Given the description of an element on the screen output the (x, y) to click on. 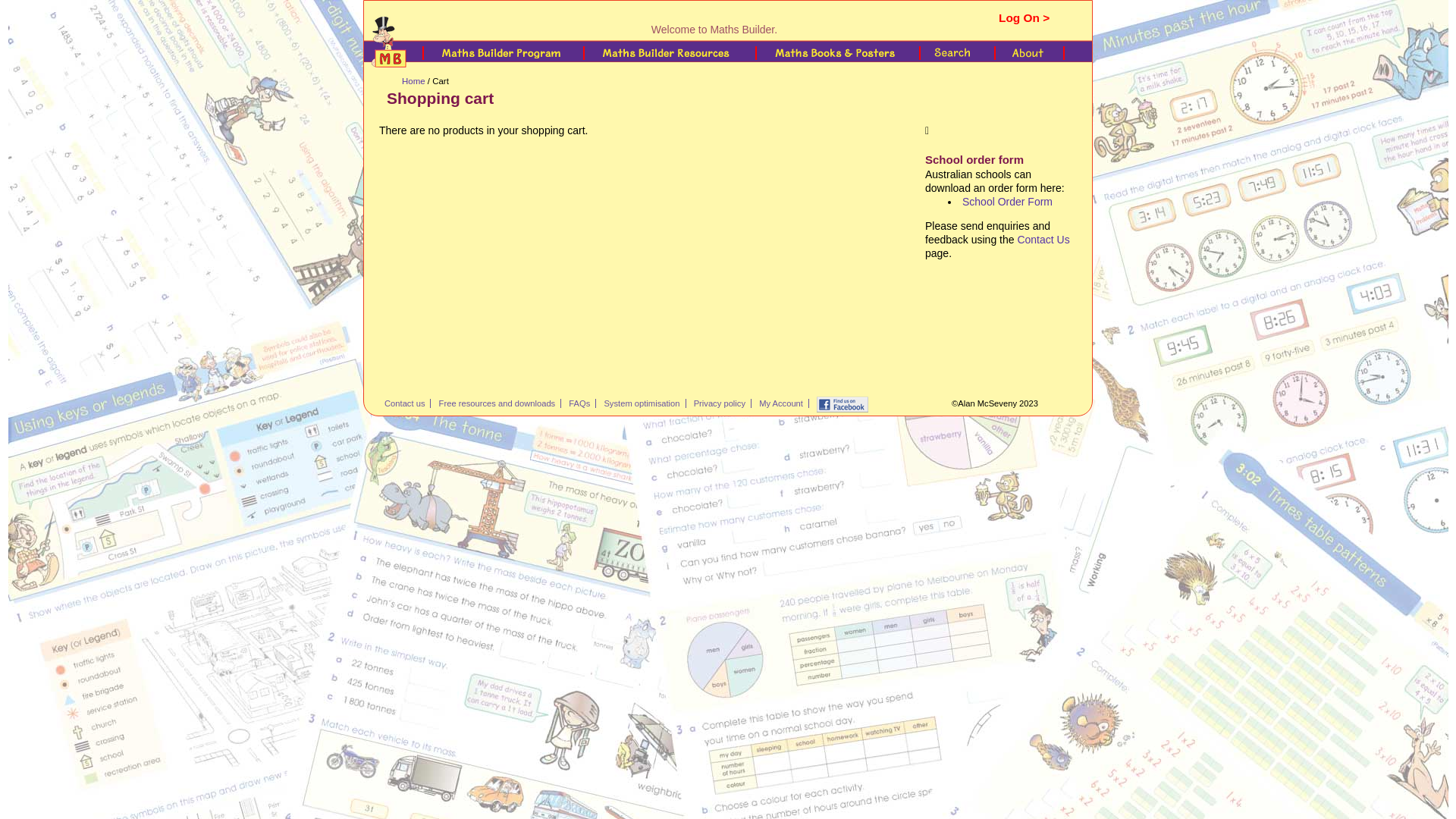
Free resources and downloads Element type: text (500, 402)
Maths Builder Resources Element type: text (670, 52)
School Order Form Element type: text (1007, 201)
About Element type: text (1034, 52)
Contact us Element type: text (407, 402)
Maths Books & Posters Element type: text (838, 52)
Maths Builder Program Element type: text (504, 52)
Facebook Element type: text (844, 404)
Privacy policy Element type: text (722, 402)
Home Element type: text (413, 80)
System optimisation Element type: text (644, 402)
FAQs Element type: text (582, 402)
Log On > Element type: text (1023, 18)
My Account Element type: text (784, 402)
Contact Us Element type: text (1042, 239)
Search Element type: text (955, 52)
